Given the description of an element on the screen output the (x, y) to click on. 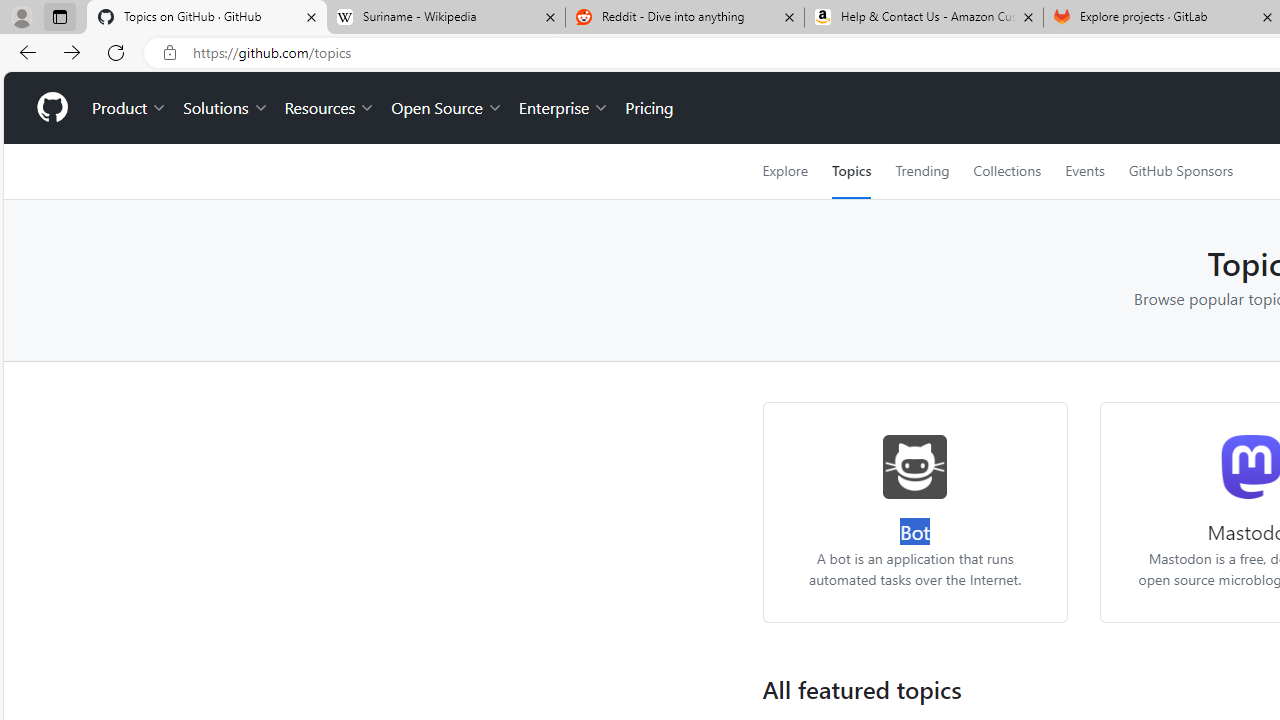
Open Source (446, 107)
Events (1084, 171)
